Given the description of an element on the screen output the (x, y) to click on. 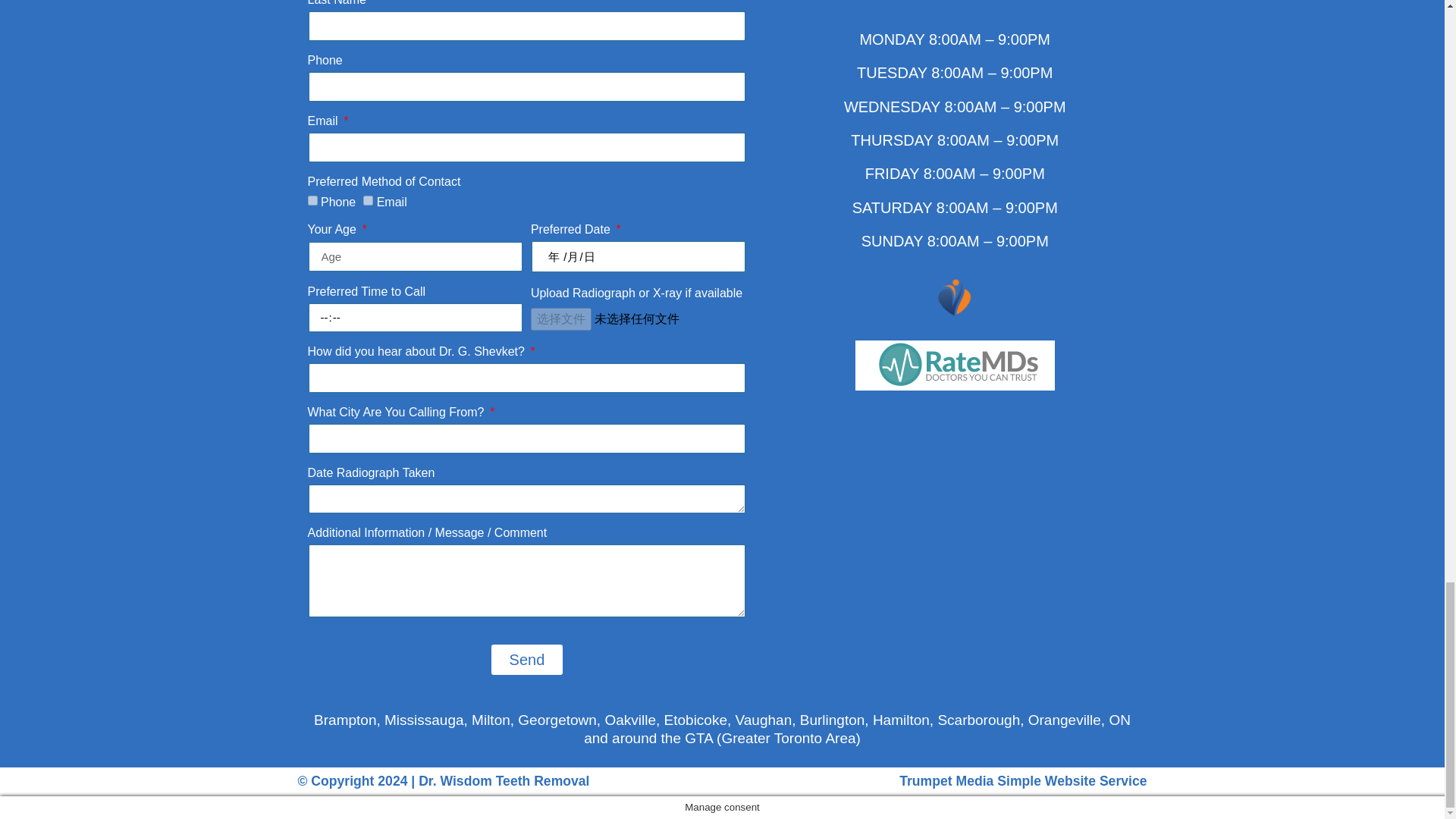
Email (367, 200)
Phone (312, 200)
Send (527, 659)
Trumpet Media Simple Website Service (1023, 780)
